Given the description of an element on the screen output the (x, y) to click on. 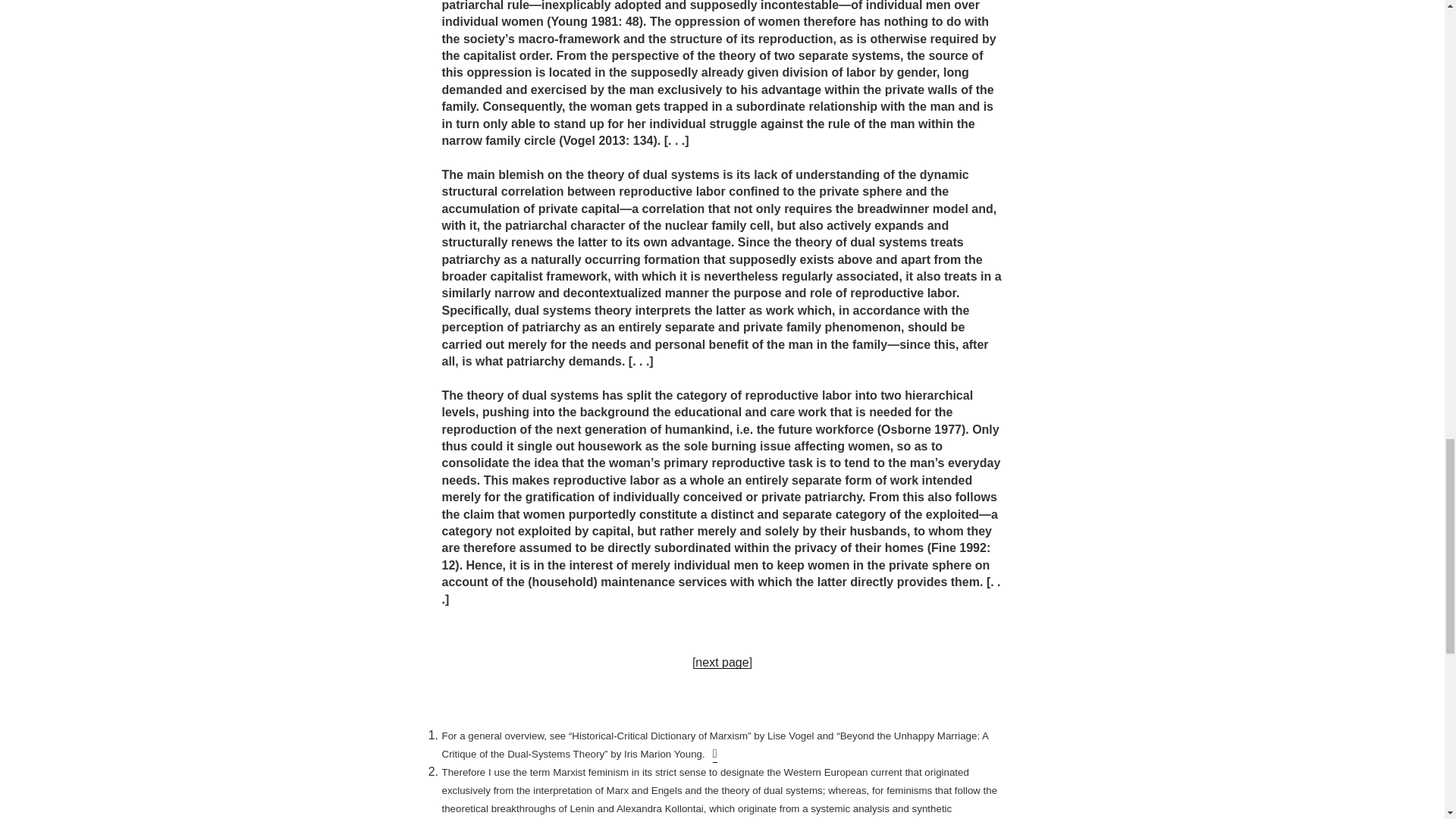
next page (721, 662)
